Given the description of an element on the screen output the (x, y) to click on. 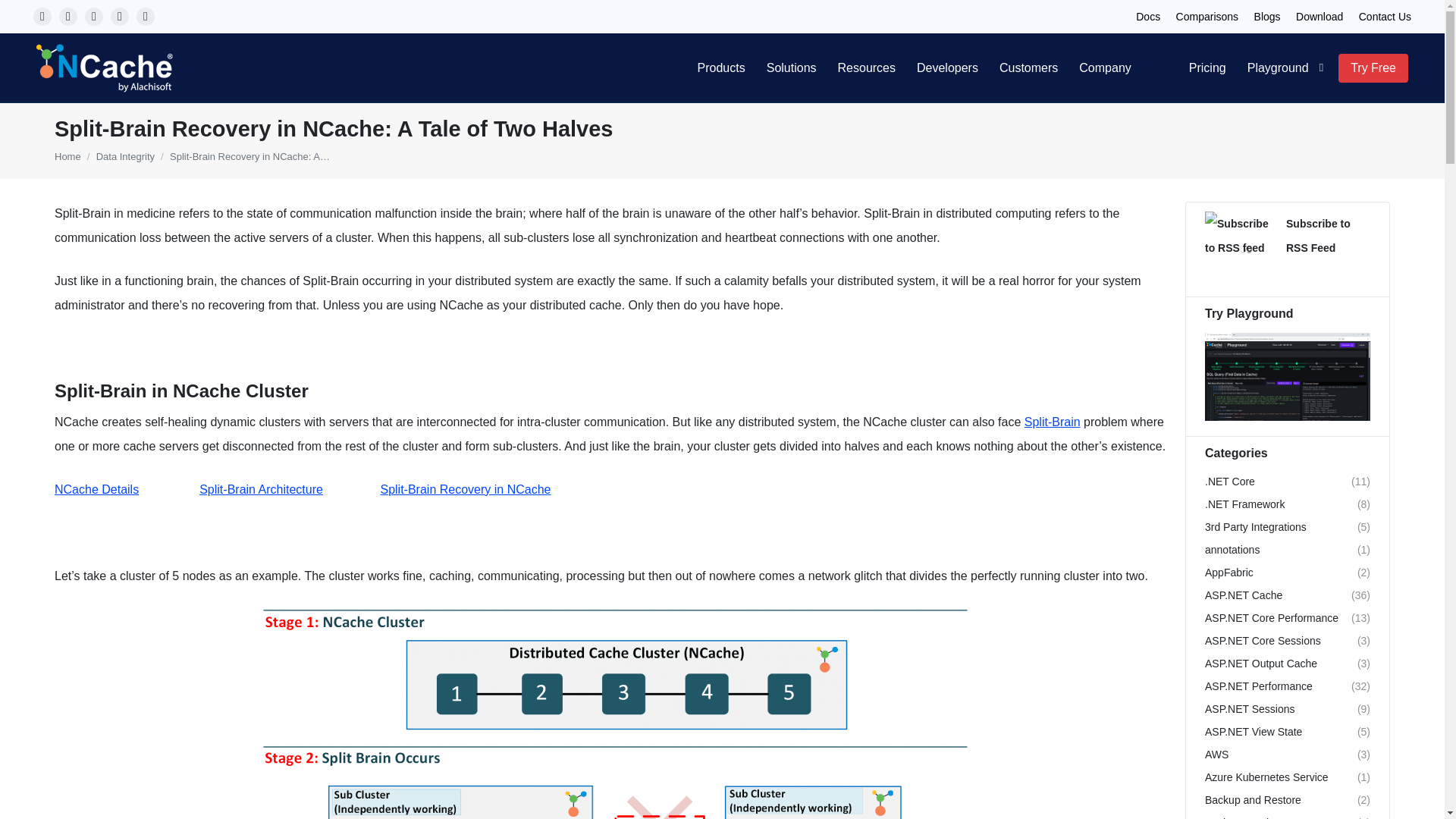
Solutions (791, 68)
Pricing (1206, 68)
YouTube page opens in new window (93, 16)
Blogs (1267, 16)
Docs (1147, 16)
X page opens in new window (68, 16)
Rss page opens in new window (145, 16)
Linkedin page opens in new window (119, 16)
Linkedin page opens in new window (119, 16)
Facebook page opens in new window (41, 16)
Download (1318, 16)
Rss page opens in new window (145, 16)
YouTube page opens in new window (93, 16)
Company (1104, 68)
Products (721, 68)
